Given the description of an element on the screen output the (x, y) to click on. 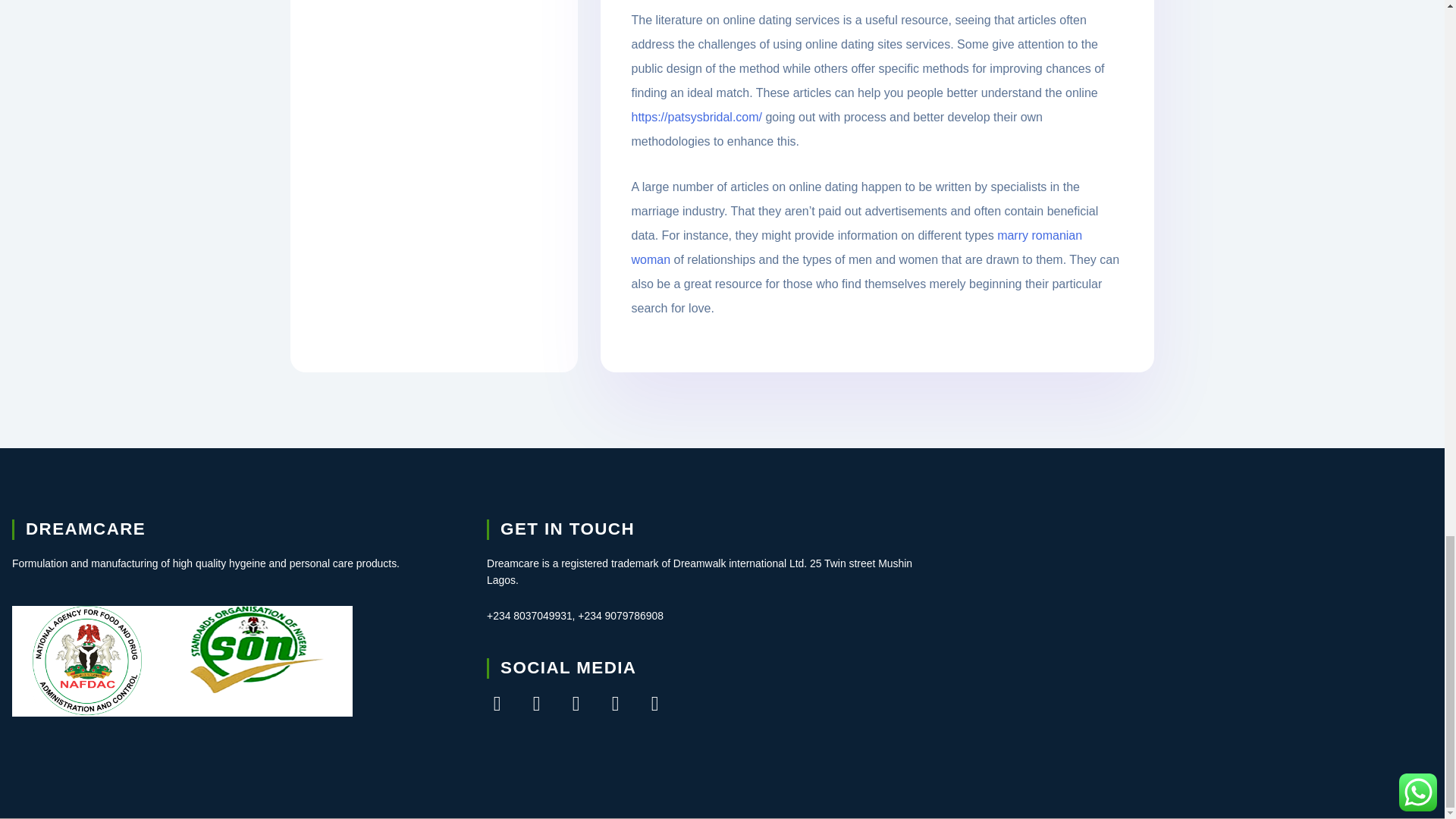
Youtube (615, 703)
Google-plus-g (576, 703)
25 Twin street Mushin Lagos (1197, 632)
marry romanian woman (908, 247)
Linkedin-in (655, 703)
Twitter (536, 703)
Facebook-f (496, 703)
